Given the description of an element on the screen output the (x, y) to click on. 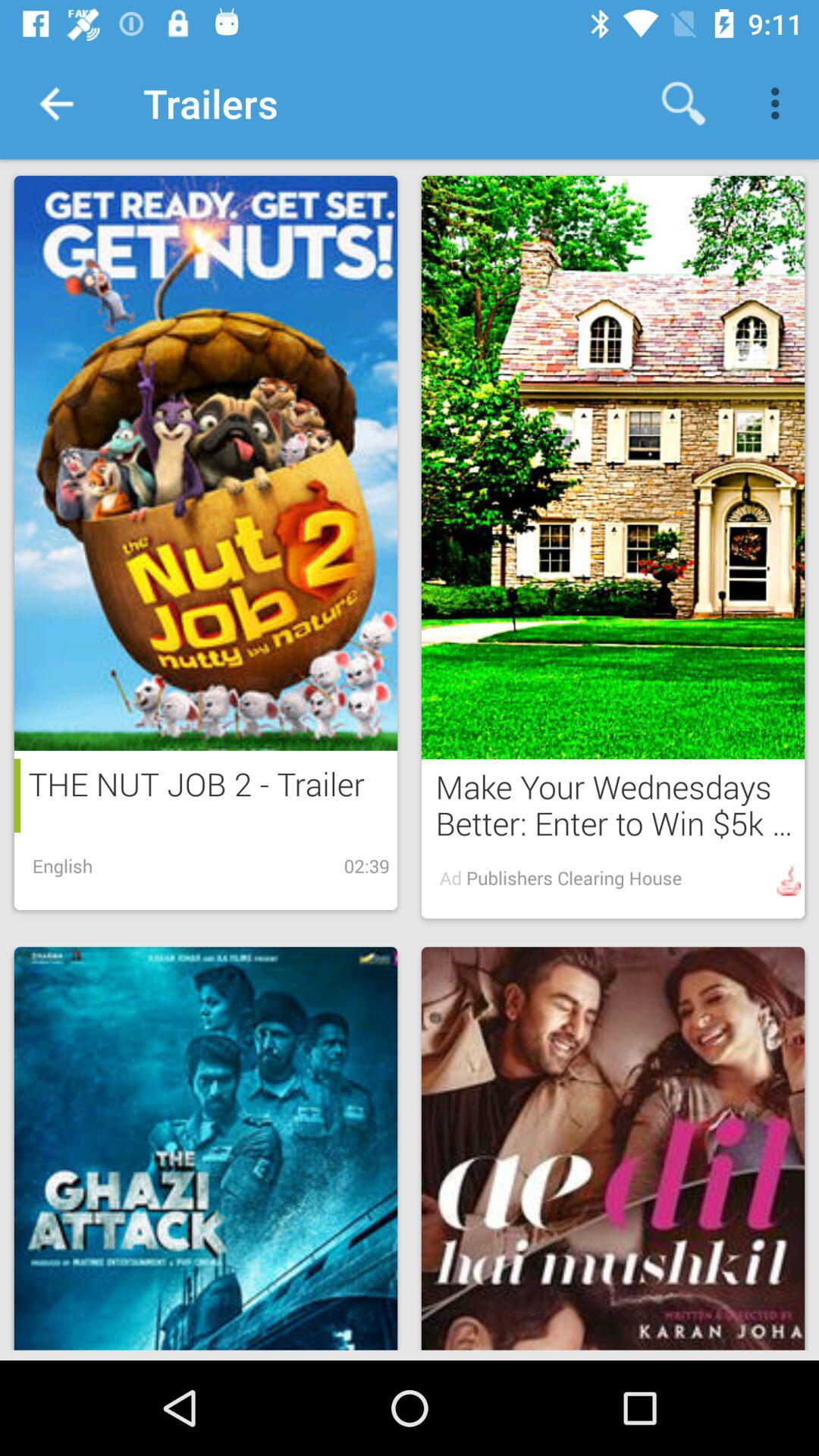
tap the item to the right of trailers (683, 103)
